Given the description of an element on the screen output the (x, y) to click on. 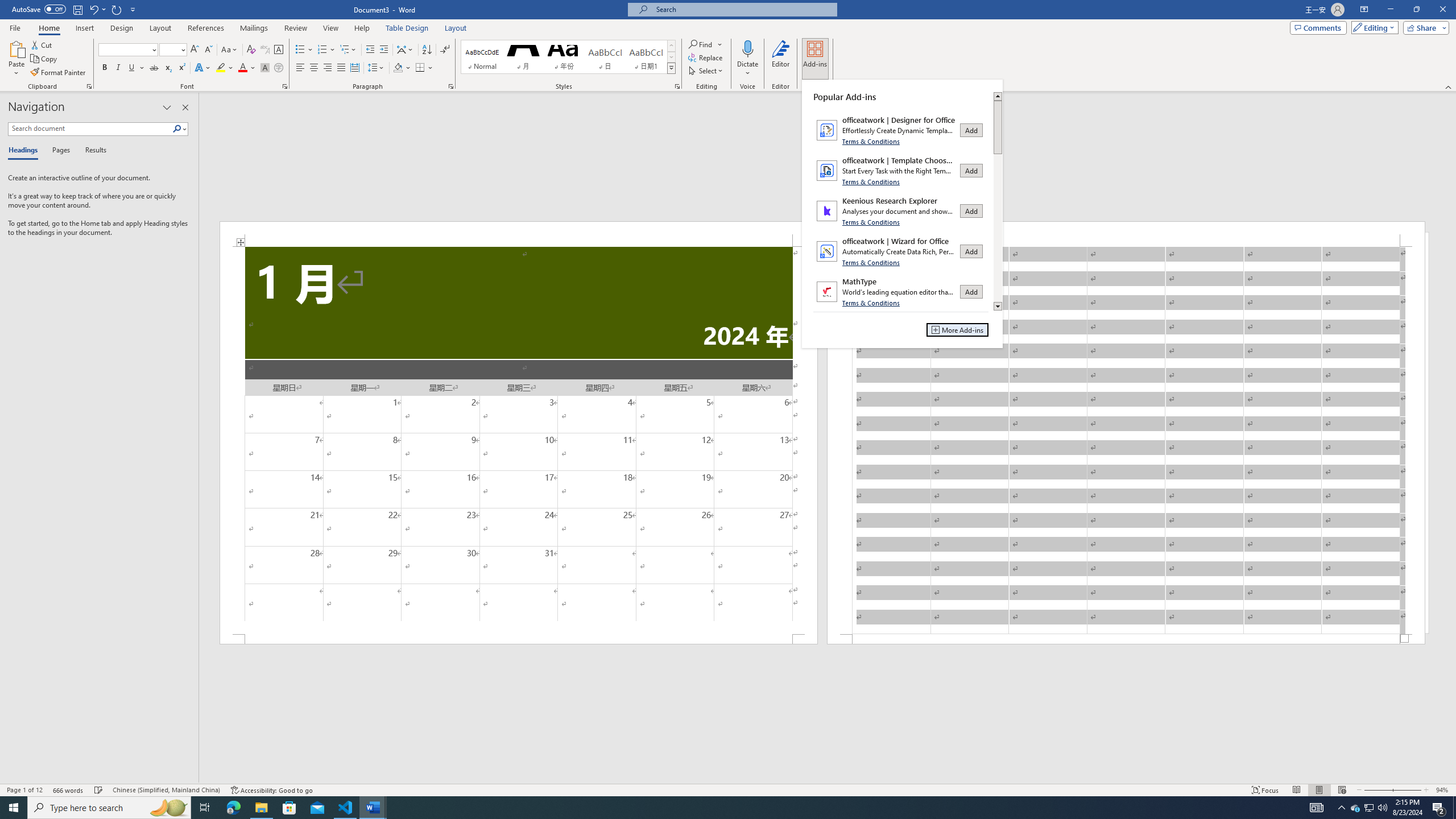
MathType (900, 291)
Word - 2 running windows (373, 807)
Line up (997, 95)
